Given the description of an element on the screen output the (x, y) to click on. 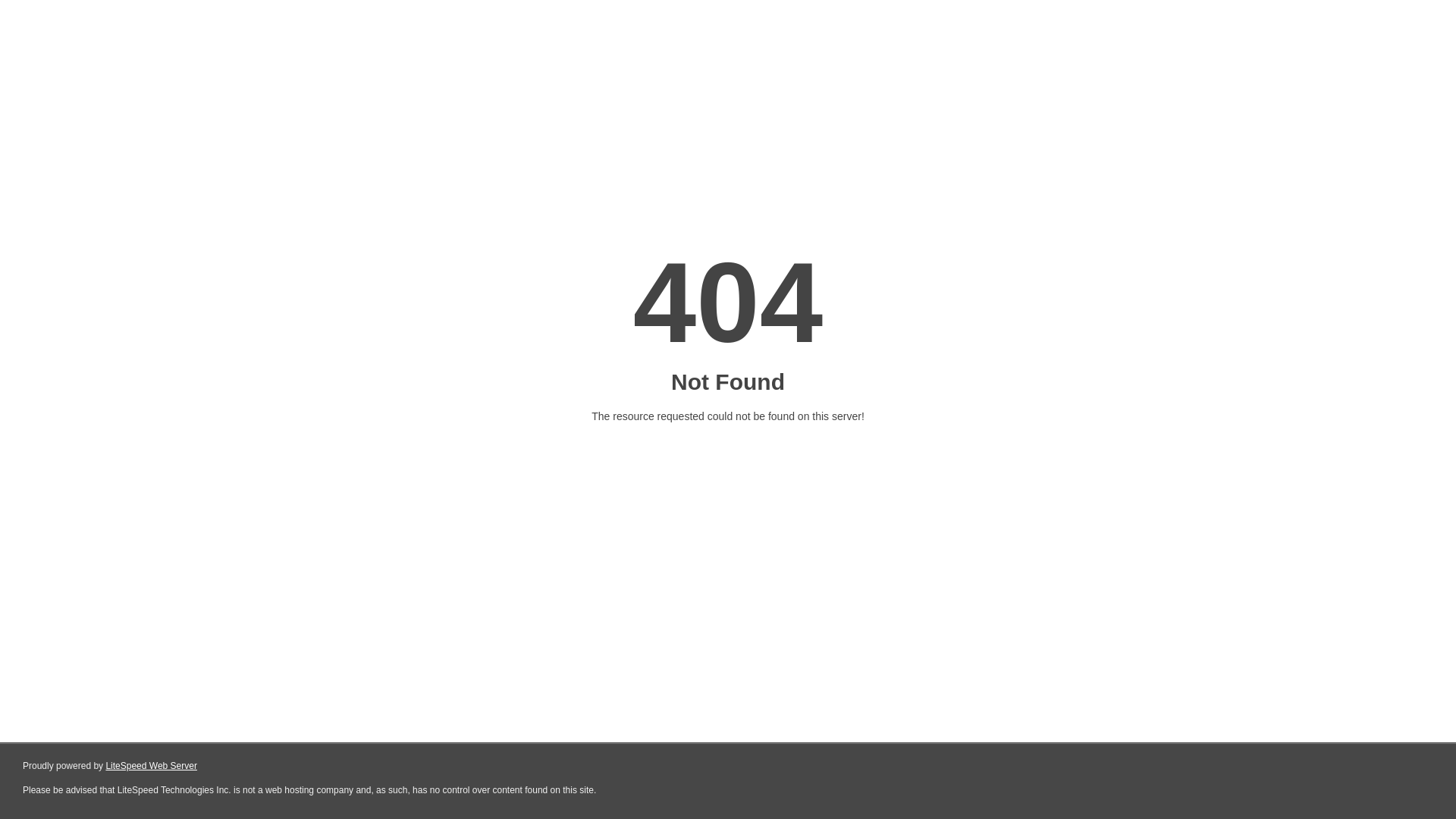
LiteSpeed Web Server Element type: text (151, 765)
